Given the description of an element on the screen output the (x, y) to click on. 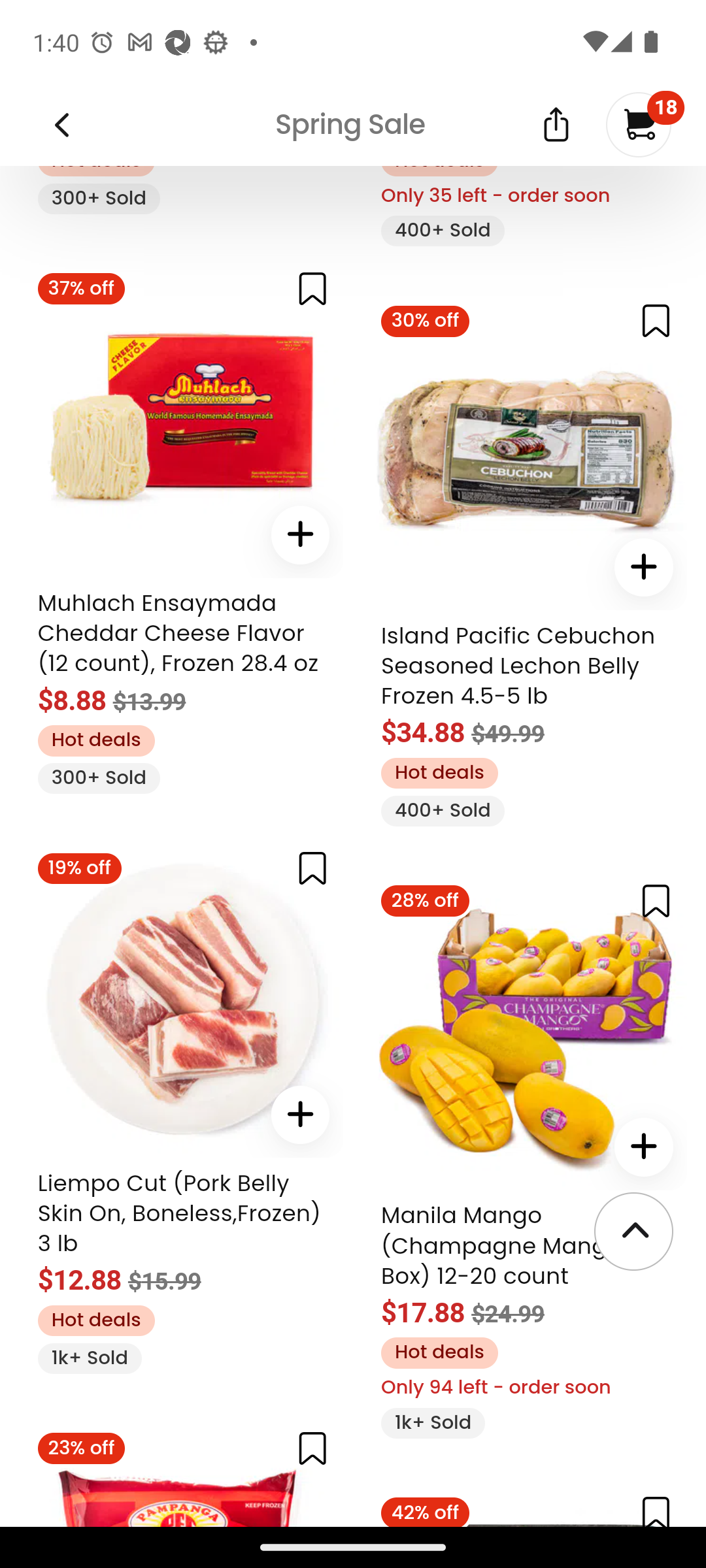
Weee! - Groceries Delivered (54, 123)
18 My cart (638, 124)
 (555, 123)
 (311, 288)
 (656, 320)
 (300, 534)
 (643, 566)
Hot deals (95, 740)
Hot deals (439, 772)
 (311, 868)
 (656, 900)
 (300, 1114)
 (643, 1146)
Hot deals (95, 1319)
Hot deals (439, 1351)
 (311, 1448)
 (656, 1510)
